Given the description of an element on the screen output the (x, y) to click on. 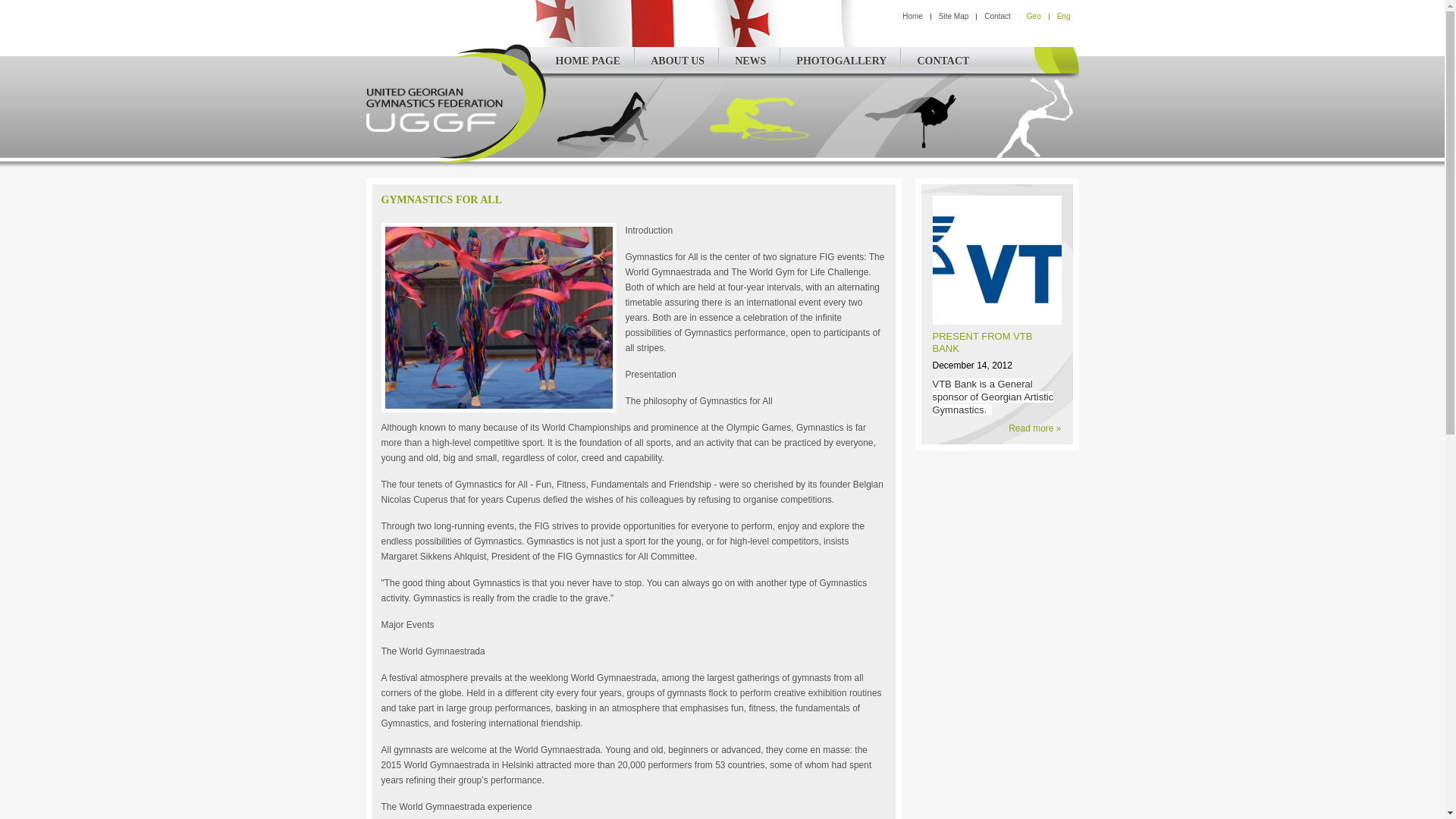
Site Map (953, 16)
PHOTOGALLERY (840, 61)
Eng (1063, 16)
NEWS (749, 61)
HOME PAGE (587, 61)
ABOUT US (676, 61)
PRESENT FROM VTB BANK (982, 341)
Geo (1033, 16)
Contact (997, 16)
Home (912, 16)
CONTACT (942, 61)
